Given the description of an element on the screen output the (x, y) to click on. 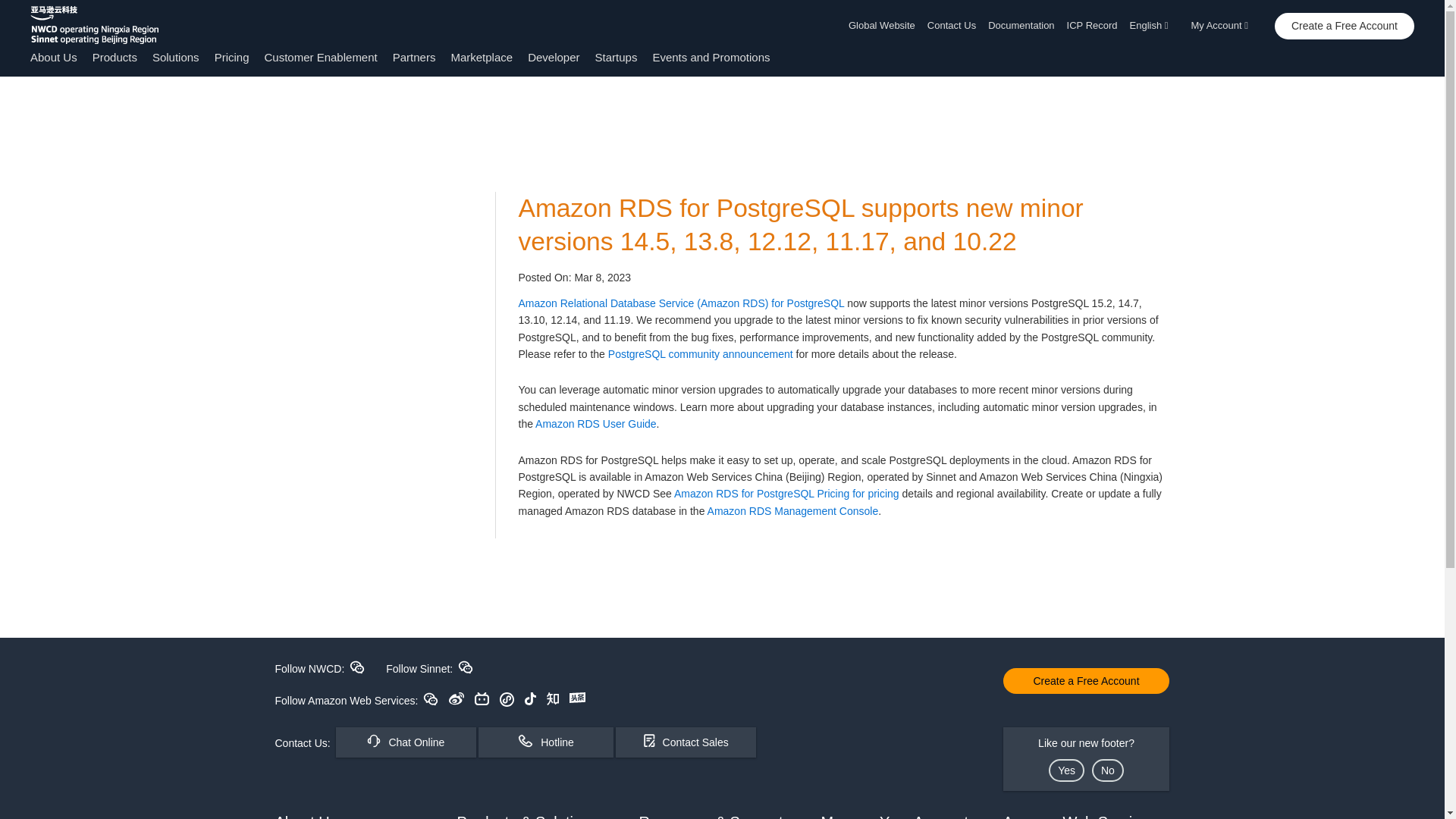
Developer (553, 56)
Amazon RDS Management Console (793, 510)
Marketplace (480, 56)
About Us (53, 56)
TouTiao (577, 697)
Amazon RDS User Guide (595, 423)
WeChat public account (430, 698)
Products (114, 56)
Sinnet (465, 667)
Pricing (231, 56)
Amazon RDS for PostgreSQL Pricing for pricing (786, 493)
Bilibili (481, 698)
Customer Enablement (320, 56)
Documentation (1020, 26)
ICP Record (1092, 26)
